Given the description of an element on the screen output the (x, y) to click on. 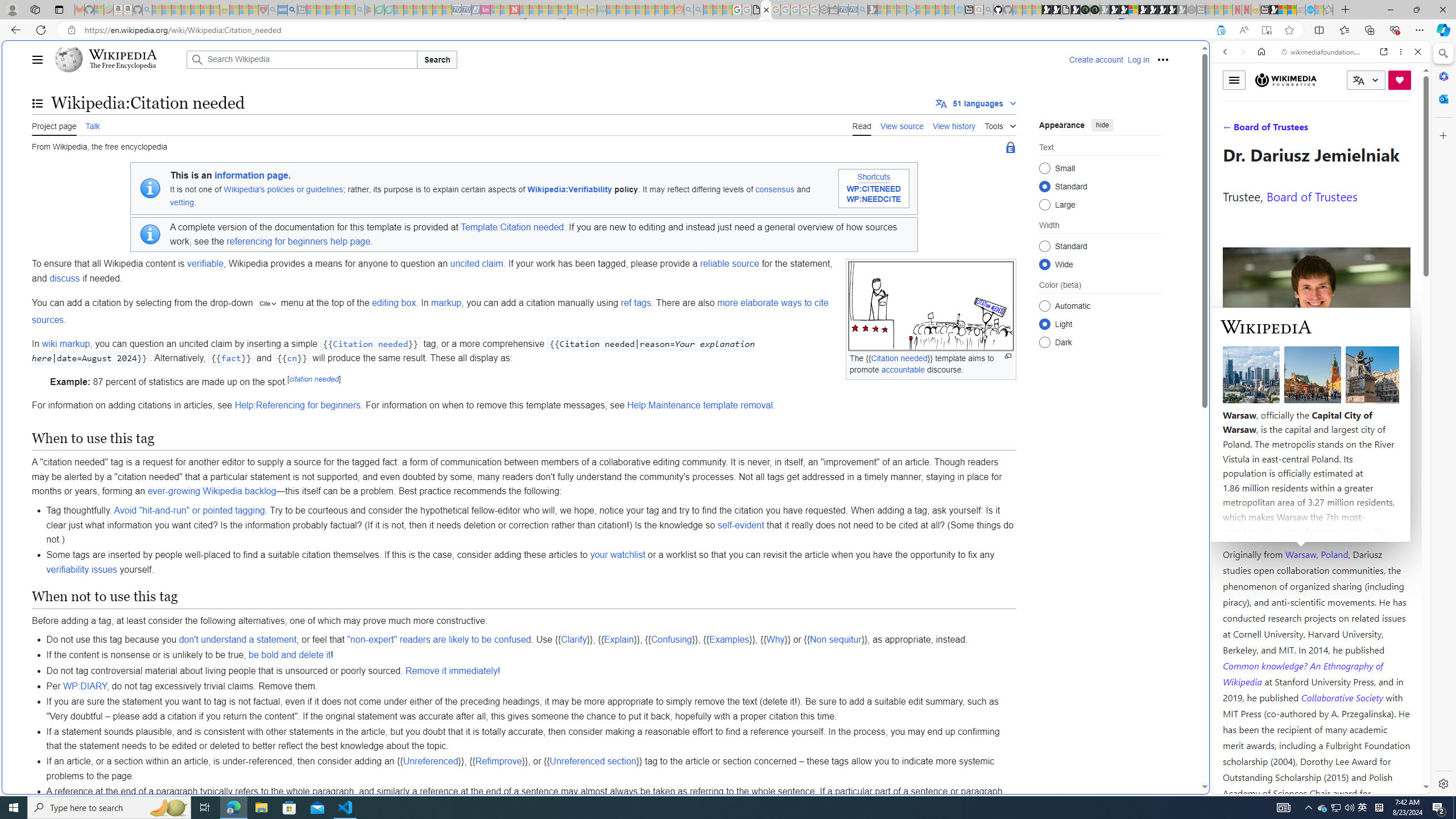
Poland (1334, 554)
more elaborate ways to cite sources (430, 311)
ever-growing Wikipedia backlog (211, 491)
Talk (92, 124)
